Given the description of an element on the screen output the (x, y) to click on. 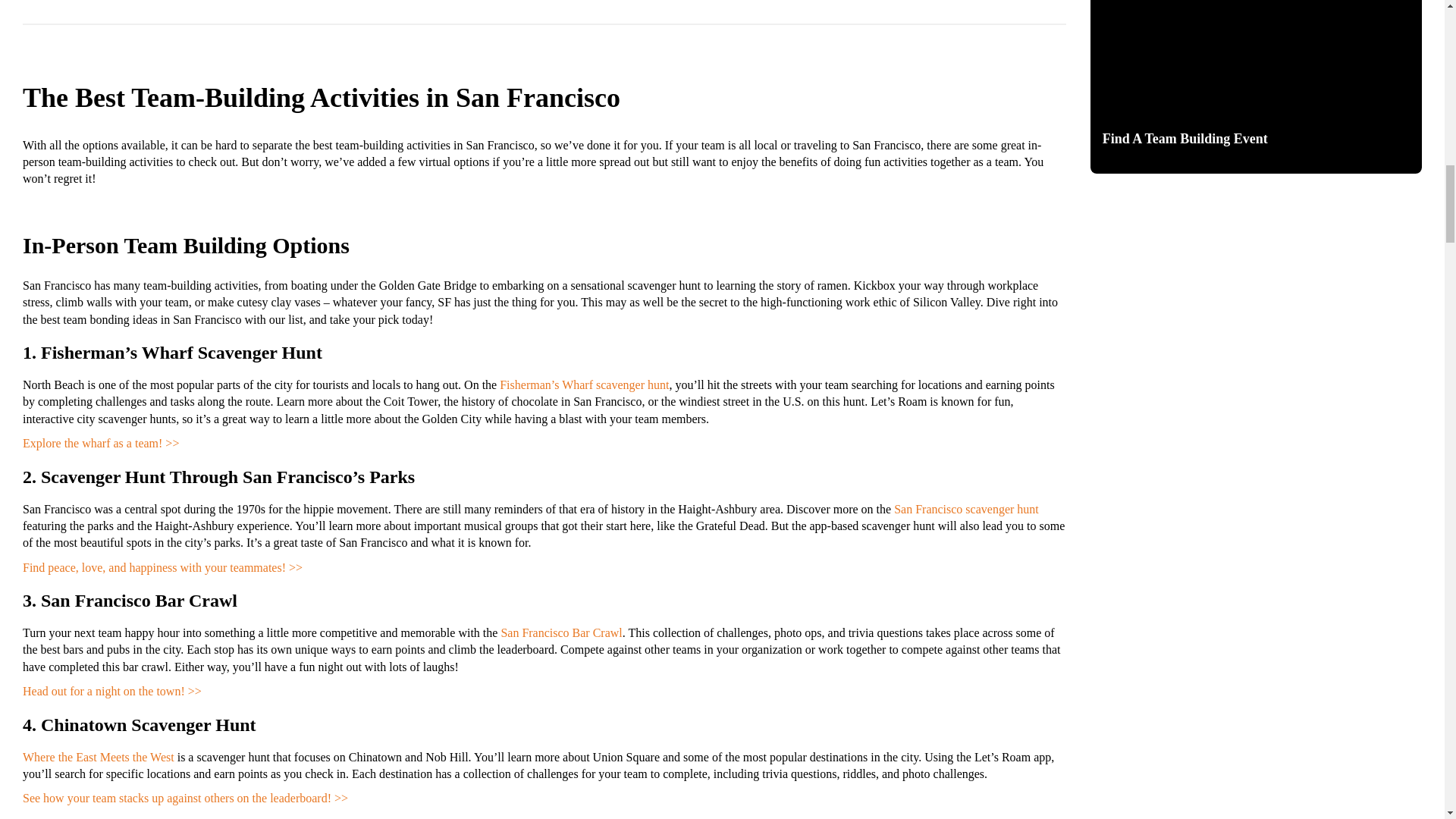
San Francisco Bar Crawl (560, 632)
Where the East Meets the West (98, 757)
San Francisco scavenger hunt (966, 508)
